Given the description of an element on the screen output the (x, y) to click on. 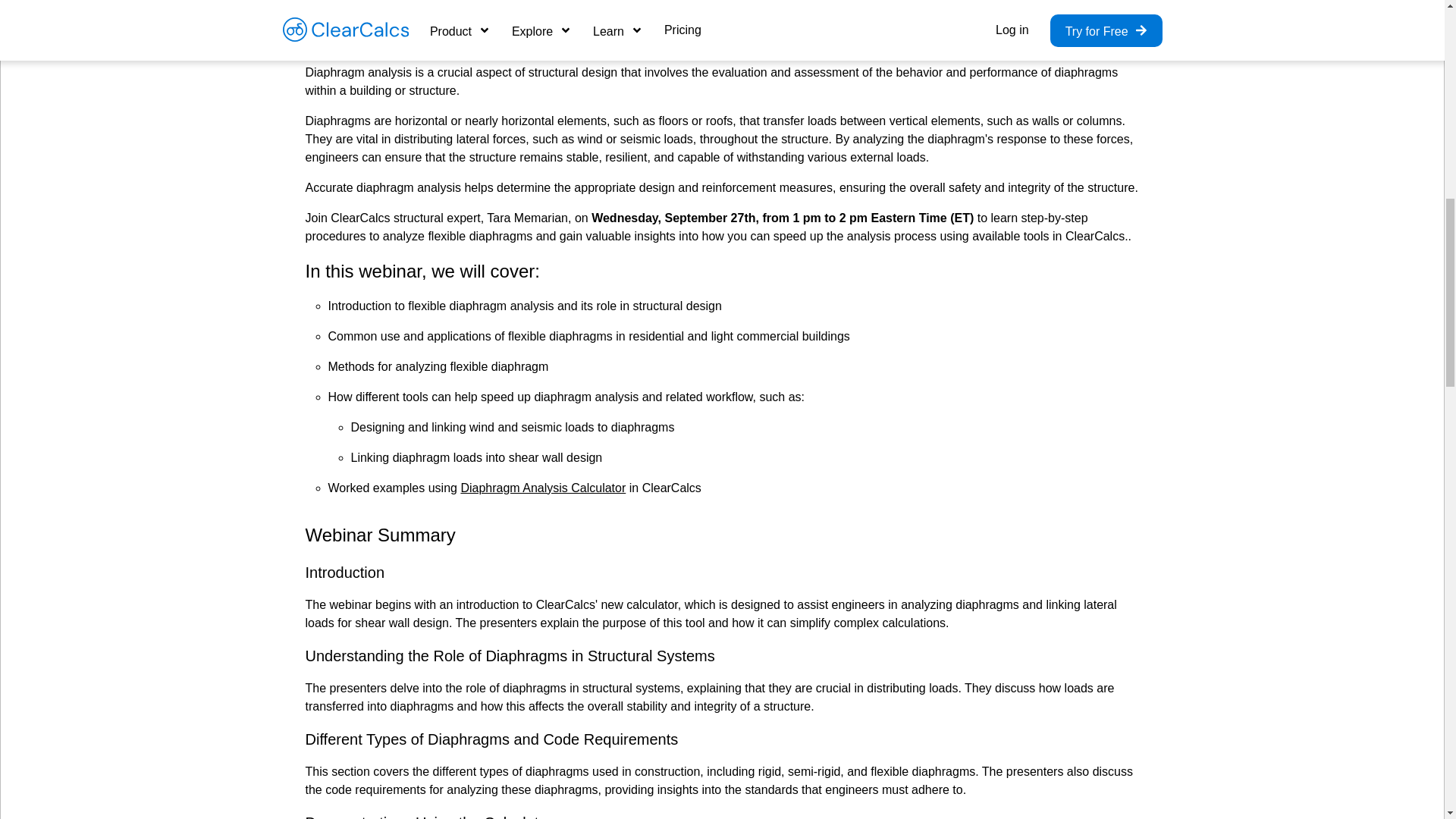
Diaphragm Analysis Calculator (543, 487)
